Given the description of an element on the screen output the (x, y) to click on. 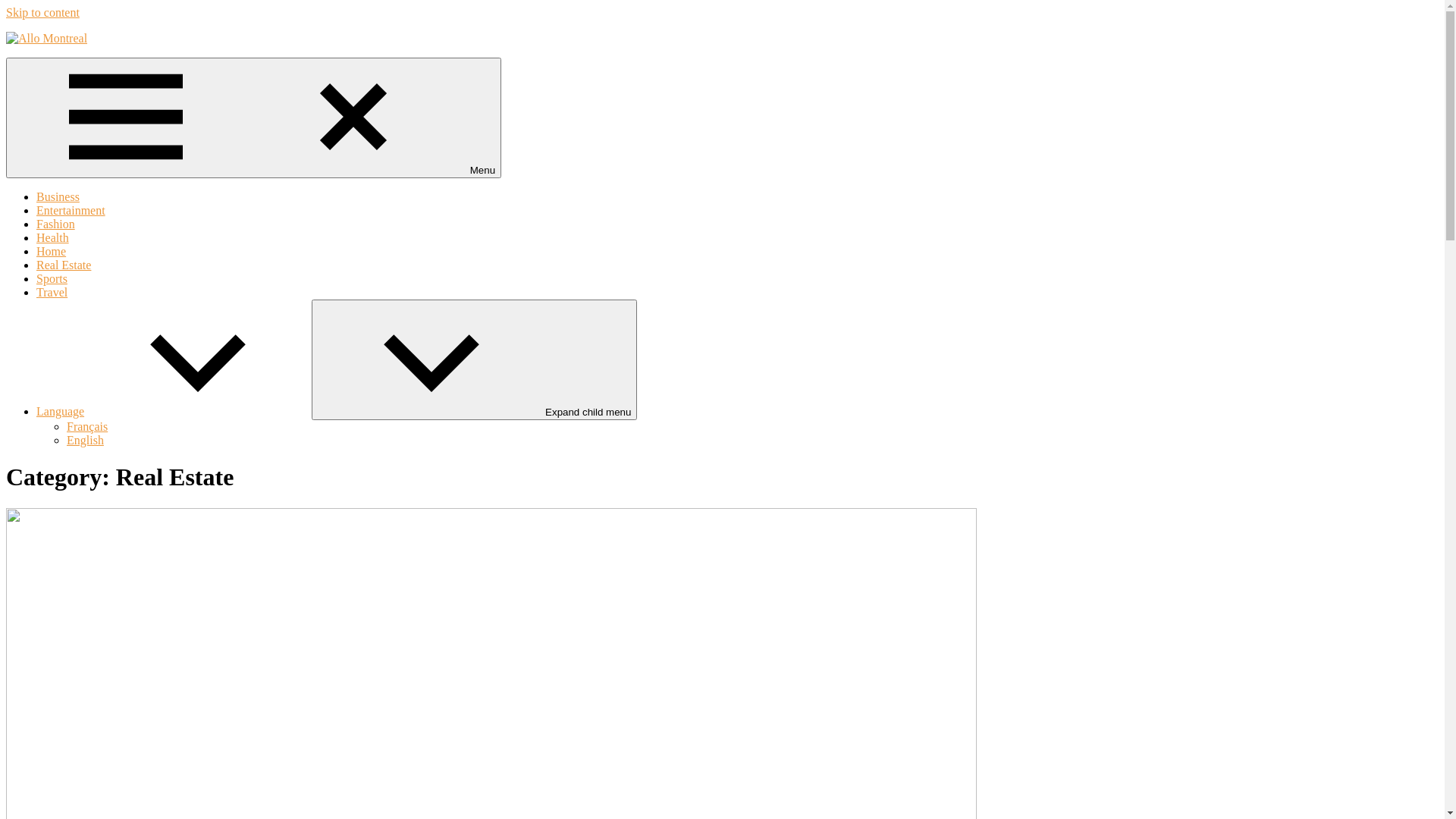
Travel Element type: text (51, 291)
English Element type: text (84, 439)
Business Element type: text (57, 196)
Home Element type: text (50, 250)
Allo Montreal Element type: text (28, 70)
Fashion Element type: text (55, 223)
Expand child menu Element type: text (474, 359)
Menu Element type: text (253, 117)
Health Element type: text (52, 237)
Language Element type: text (173, 410)
Real Estate Element type: text (63, 264)
Entertainment Element type: text (70, 209)
Skip to content Element type: text (42, 12)
Sports Element type: text (51, 278)
